Given the description of an element on the screen output the (x, y) to click on. 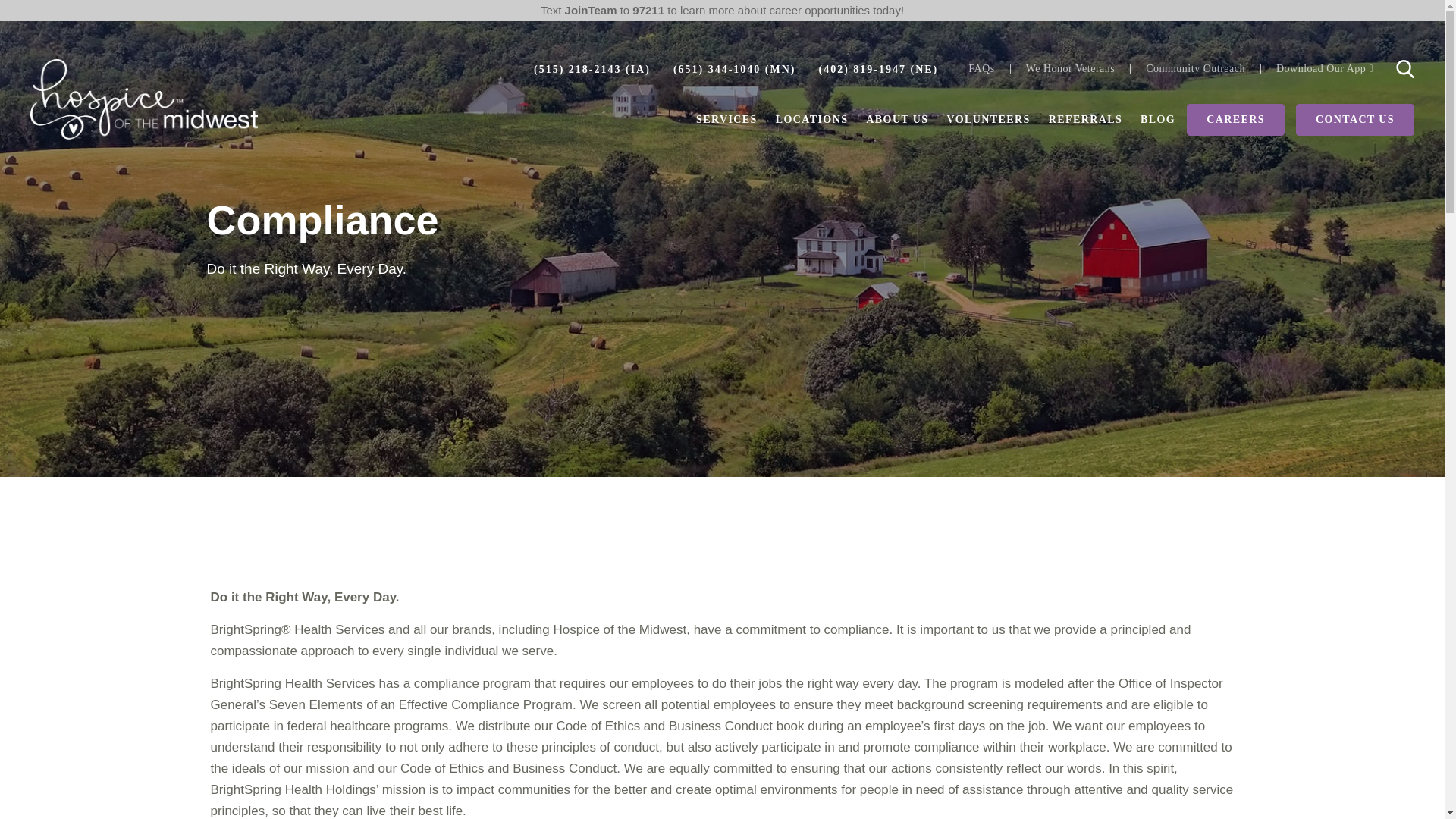
We Honor Veterans (1069, 68)
SERVICES (726, 119)
Download Our App (1324, 68)
ABOUT US (897, 119)
VOLUNTEERS (987, 119)
LOCATIONS (812, 119)
FAQs (980, 68)
Community Outreach (1195, 68)
